Given the description of an element on the screen output the (x, y) to click on. 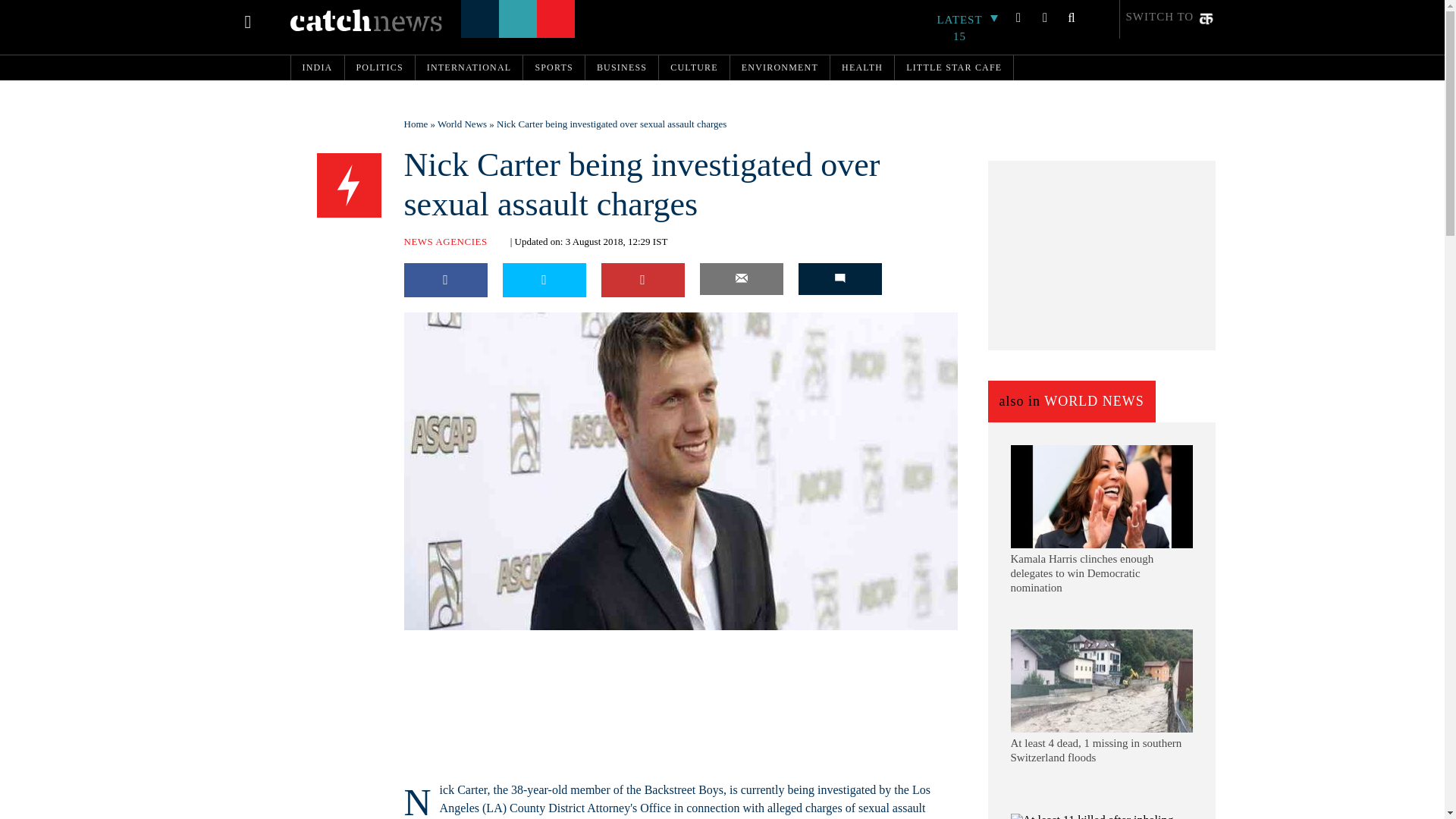
Twitter Follow Button (501, 640)
Catch News (365, 20)
fb:like Facebook Social Plugin (422, 640)
SPEED NEWS (349, 185)
LATEST 15 (968, 28)
